Given the description of an element on the screen output the (x, y) to click on. 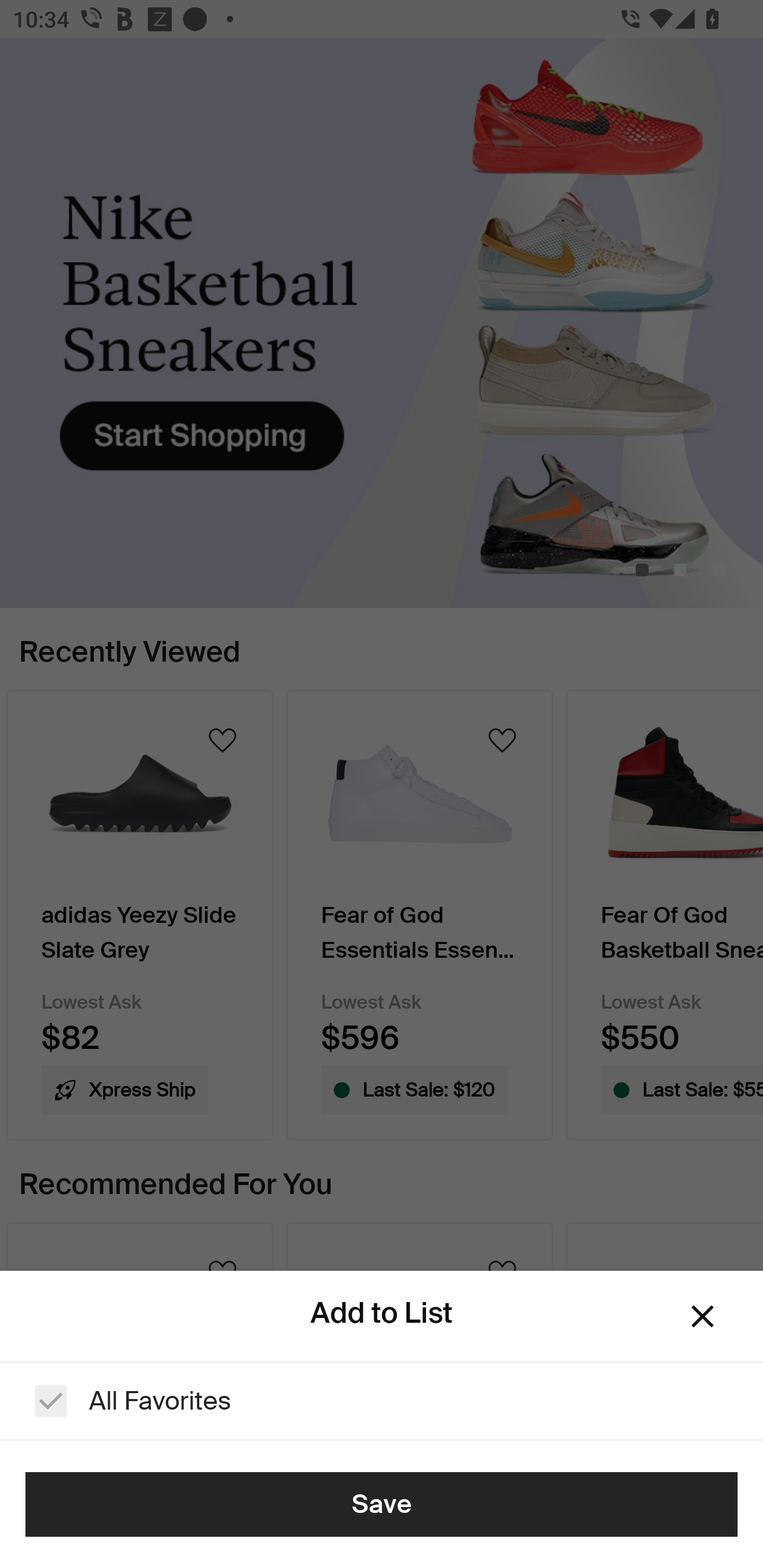
Dismiss (702, 1315)
All Favorites (381, 1400)
Save (381, 1504)
